Given the description of an element on the screen output the (x, y) to click on. 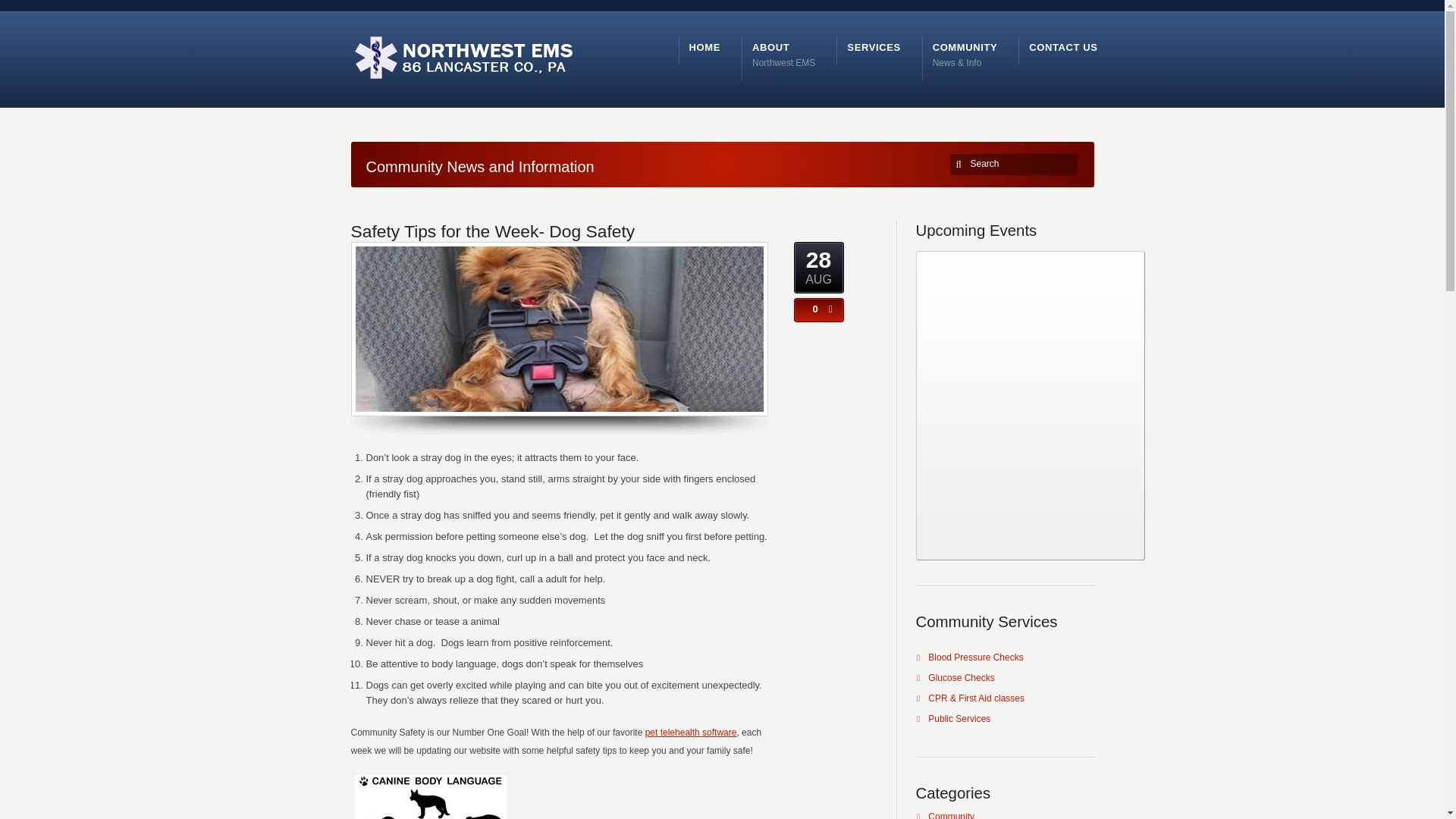
HOME (704, 47)
SERVICES (873, 47)
Search (1016, 163)
pet telehealth software (690, 732)
CONTACT US (1063, 47)
Community (951, 815)
0 (783, 53)
